Given the description of an element on the screen output the (x, y) to click on. 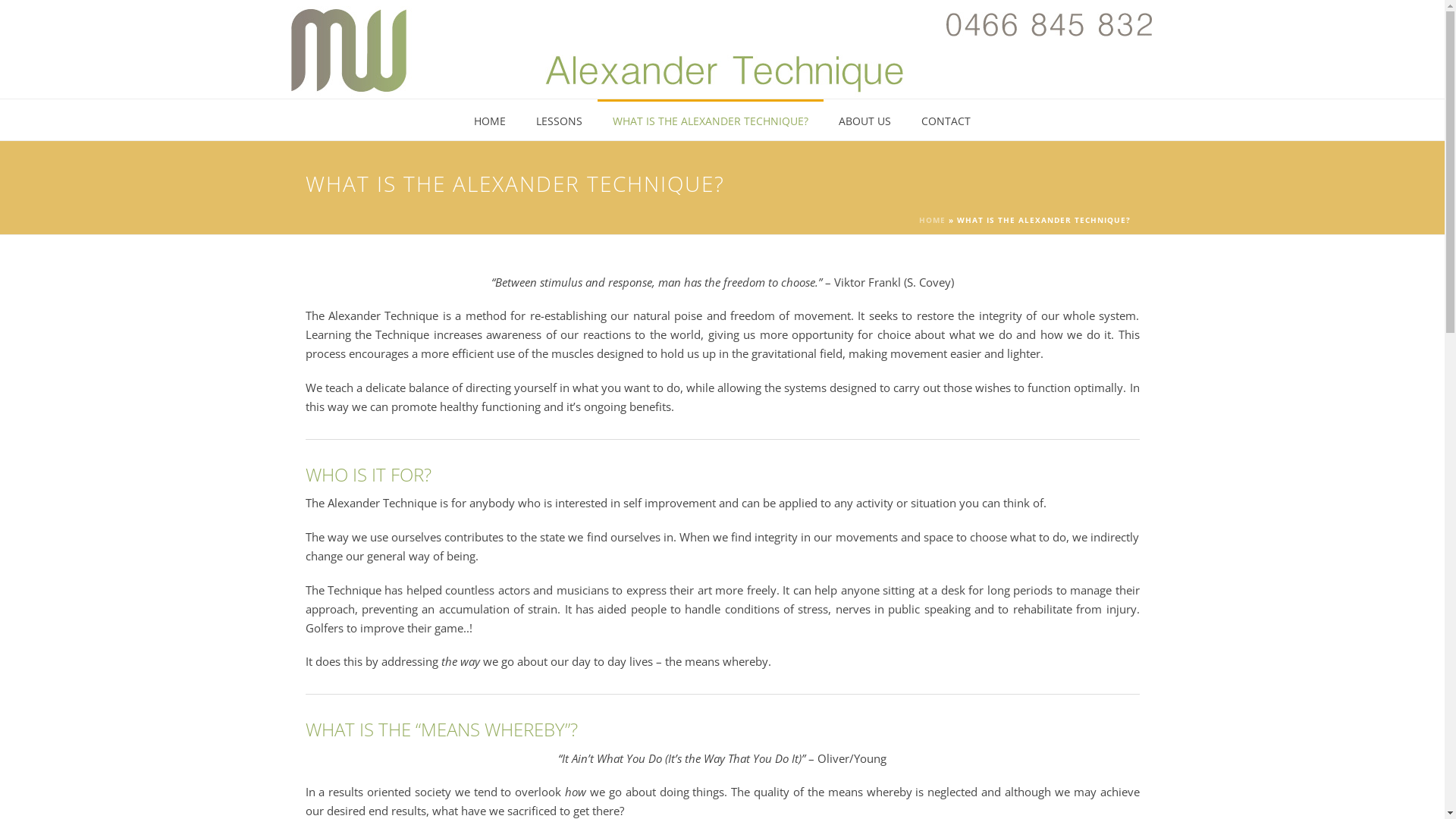
LESSONS Element type: text (558, 119)
ABOUT US Element type: text (864, 119)
CONTACT Element type: text (945, 119)
WHAT IS THE ALEXANDER TECHNIQUE? Element type: text (710, 119)
HOME Element type: text (489, 119)
MangoMatter Element type: text (651, 797)
HOME Element type: text (932, 219)
